Given the description of an element on the screen output the (x, y) to click on. 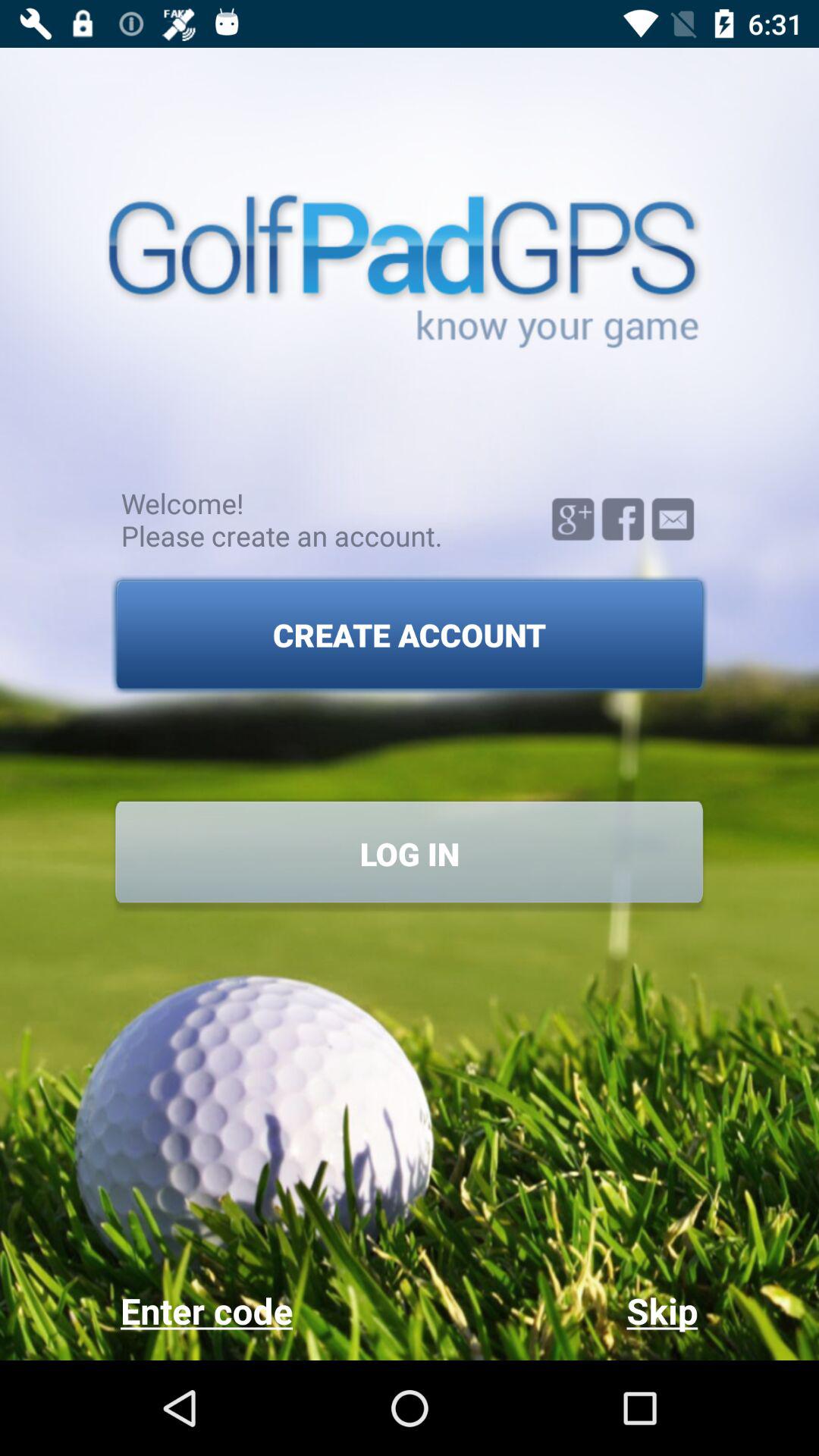
swipe to the log in item (409, 853)
